Given the description of an element on the screen output the (x, y) to click on. 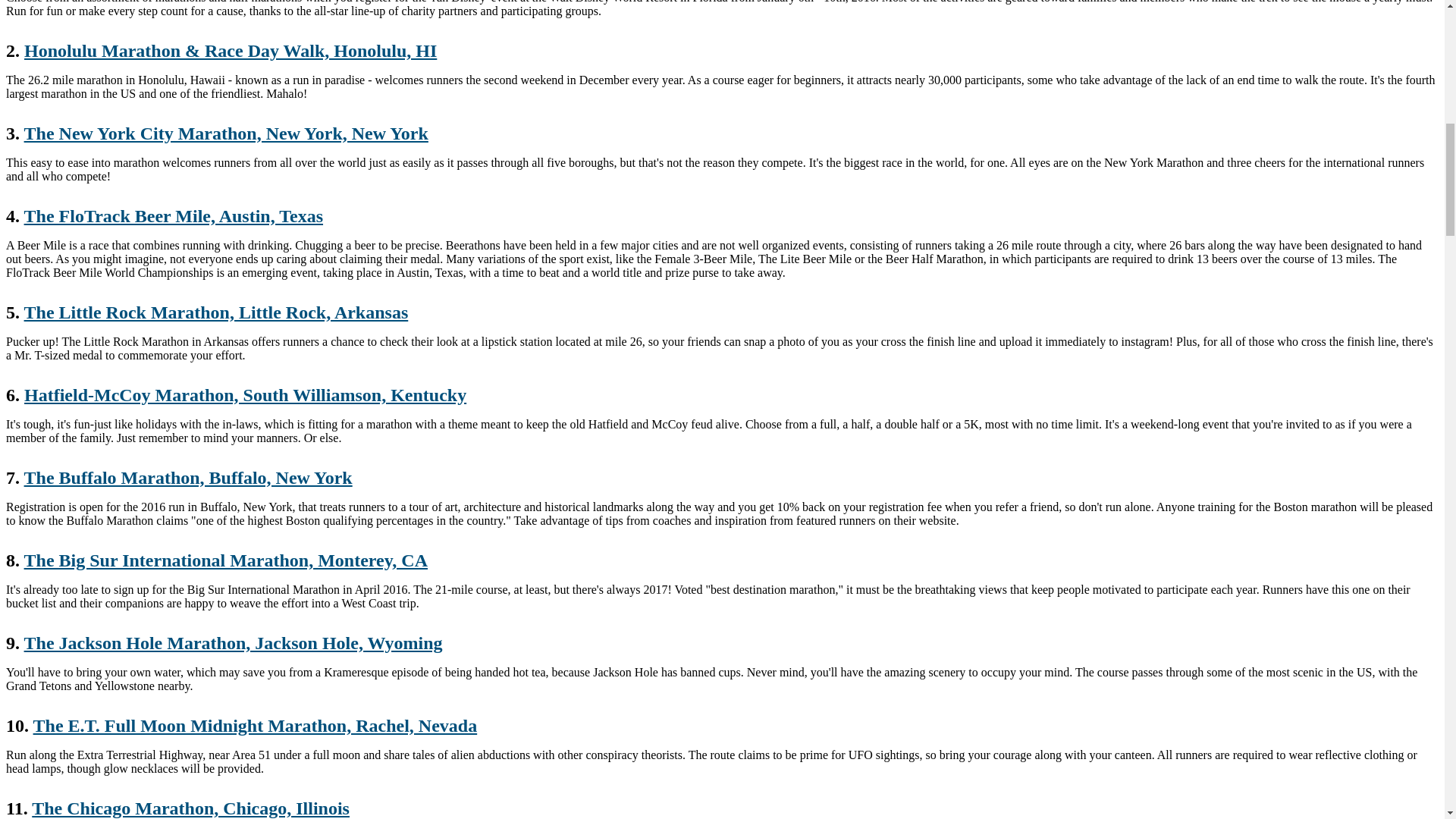
The Buffalo Marathon, Buffalo, New York (188, 477)
The Little Rock Marathon, Little Rock, Arkansas (216, 312)
The Jackson Hole Marathon, Jackson Hole, Wyoming (233, 642)
The New York City Marathon, New York, New York (226, 133)
The Big Sur International Marathon, Monterey, CA (226, 560)
Hatfield-McCoy Marathon, South Williamson, Kentucky (244, 394)
The FloTrack Beer Mile, Austin, Texas (173, 216)
The Chicago Marathon, Chicago, Illinois (190, 808)
The E.T. Full Moon Midnight Marathon, Rachel, Nevada (255, 725)
